Given the description of an element on the screen output the (x, y) to click on. 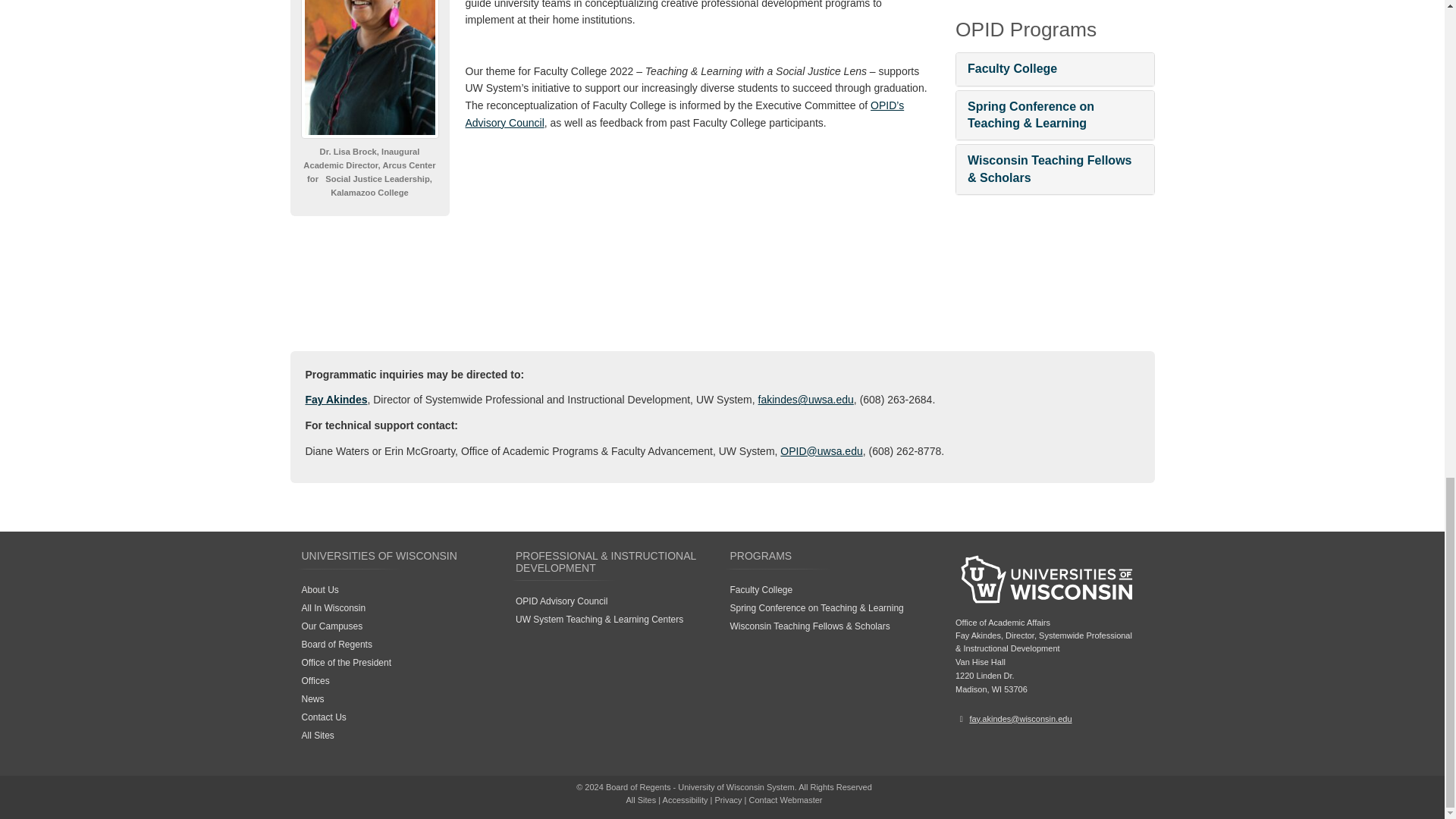
Faculty College (1012, 68)
